Given the description of an element on the screen output the (x, y) to click on. 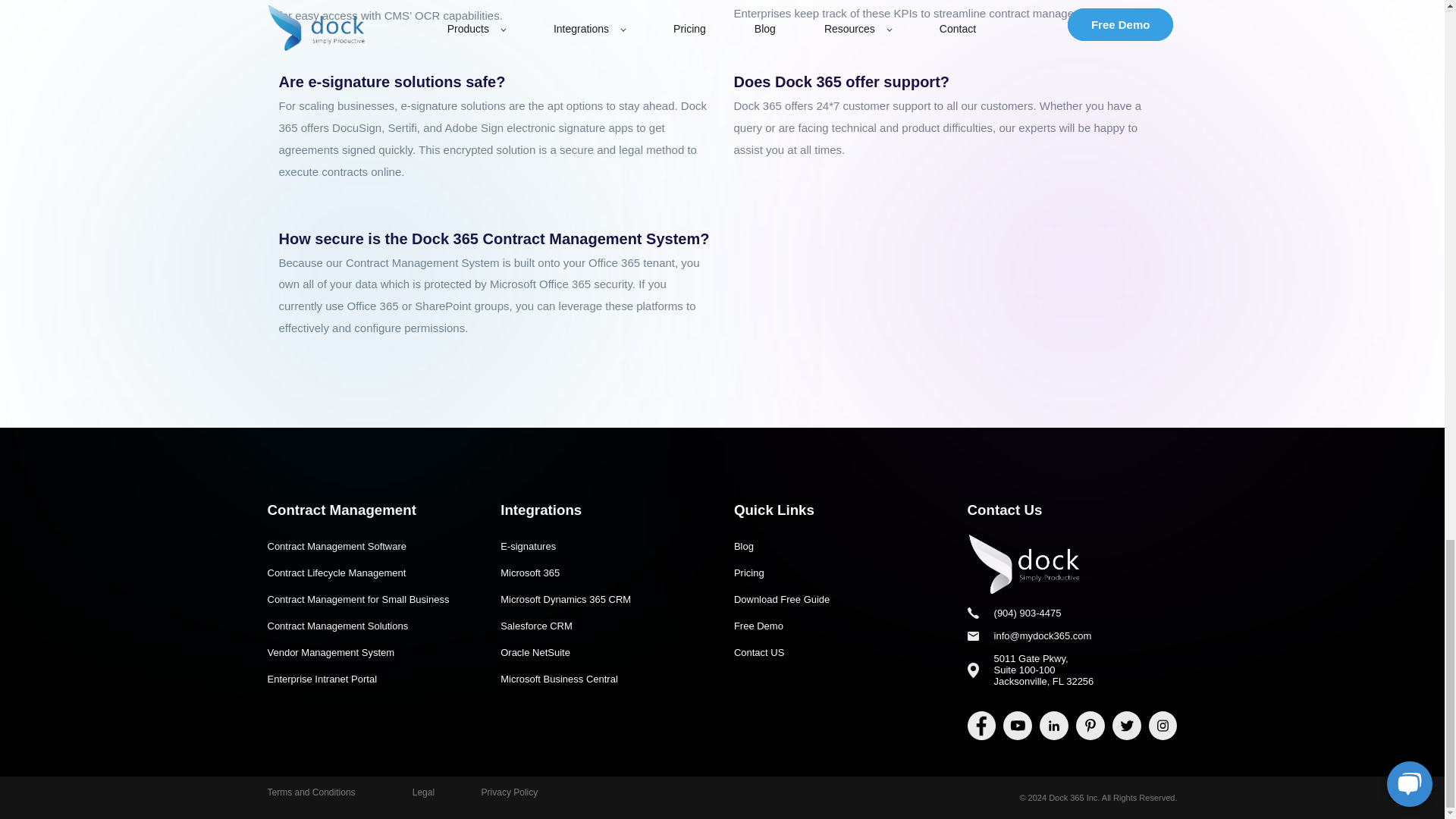
Vendor Management System (371, 652)
Oracle NetSuite (605, 652)
Contract Management Software (371, 546)
Contract Management for Small Business (371, 599)
Enterprise Intranet Portal (371, 678)
Salesforce CRM (605, 625)
Contract Lifecycle Management (371, 572)
E-signatures (605, 546)
Contract Management Solutions (371, 625)
Microsoft Dynamics 365 CRM (605, 599)
